Given the description of an element on the screen output the (x, y) to click on. 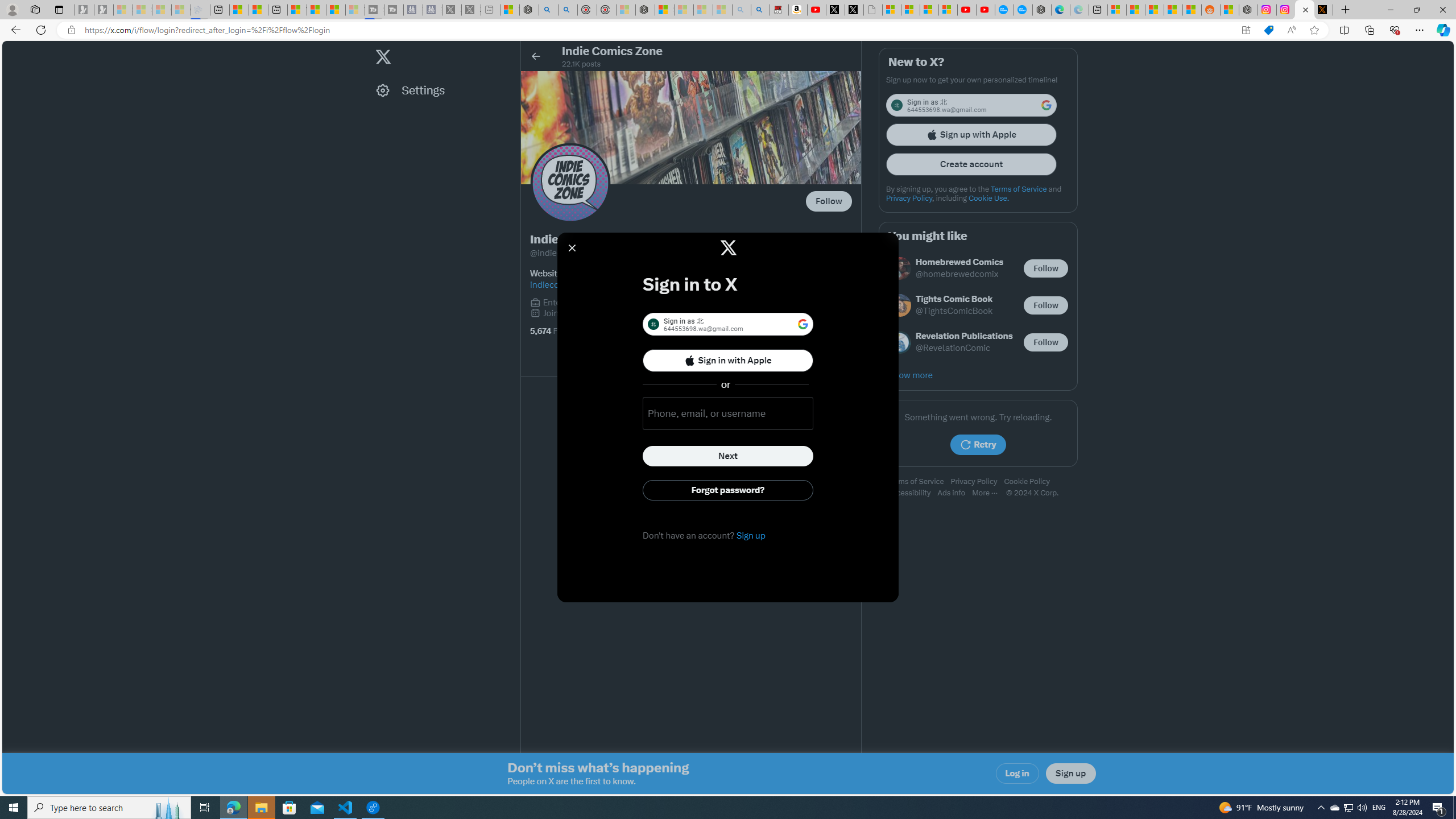
Nordace - Nordace has arrived Hong Kong (1041, 9)
Shanghai, China hourly forecast | Microsoft Weather (1154, 9)
Log in (1017, 773)
App bar (728, 29)
